Given the description of an element on the screen output the (x, y) to click on. 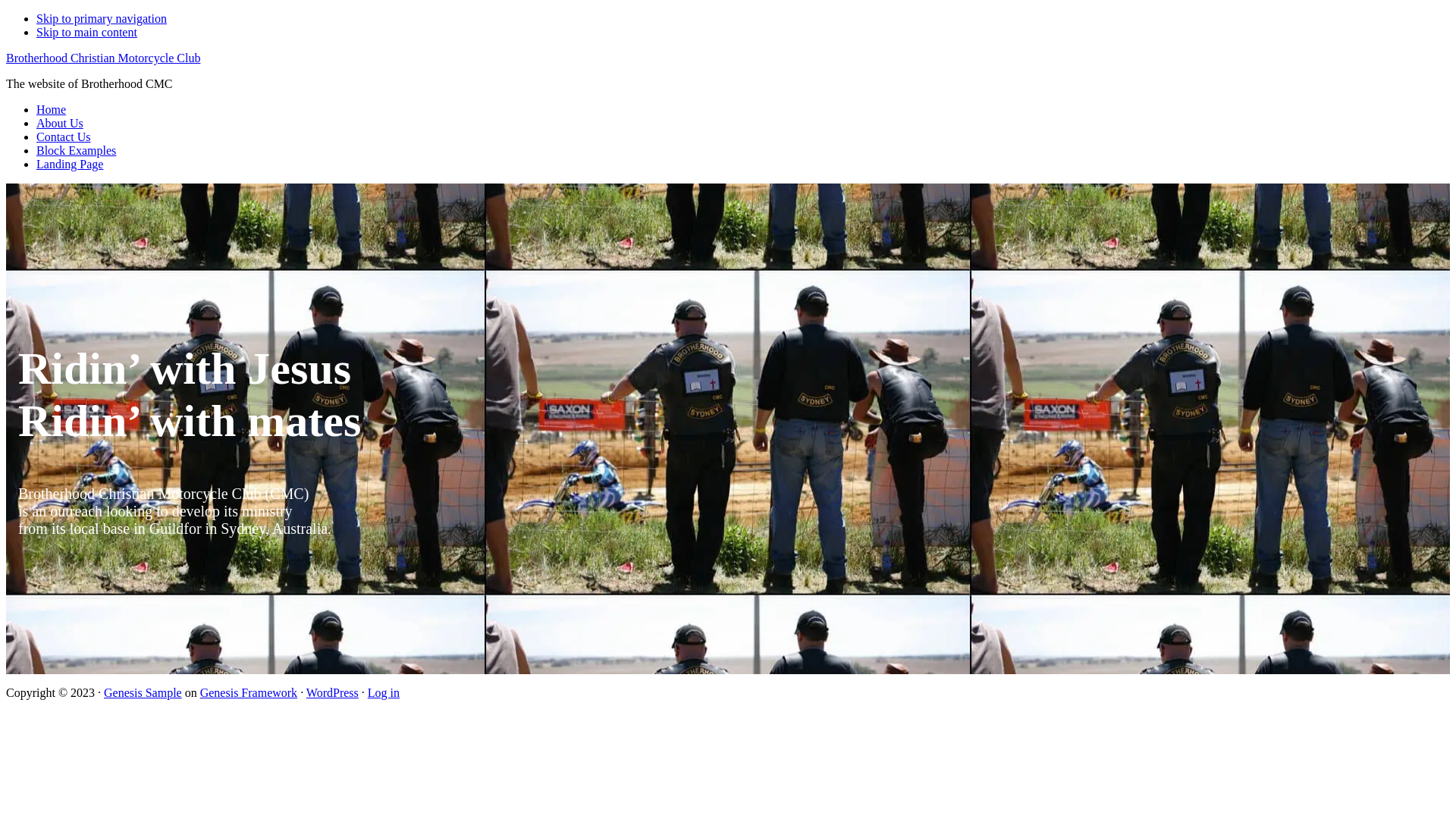
WordPress Element type: text (332, 692)
About Us Element type: text (59, 122)
Log in Element type: text (383, 692)
Genesis Framework Element type: text (248, 692)
Block Examples Element type: text (76, 150)
Skip to main content Element type: text (86, 31)
Genesis Sample Element type: text (142, 692)
Contact Us Element type: text (63, 136)
Skip to primary navigation Element type: text (101, 18)
Home Element type: text (50, 109)
Landing Page Element type: text (69, 163)
Brotherhood Christian Motorcycle Club Element type: text (103, 57)
